Given the description of an element on the screen output the (x, y) to click on. 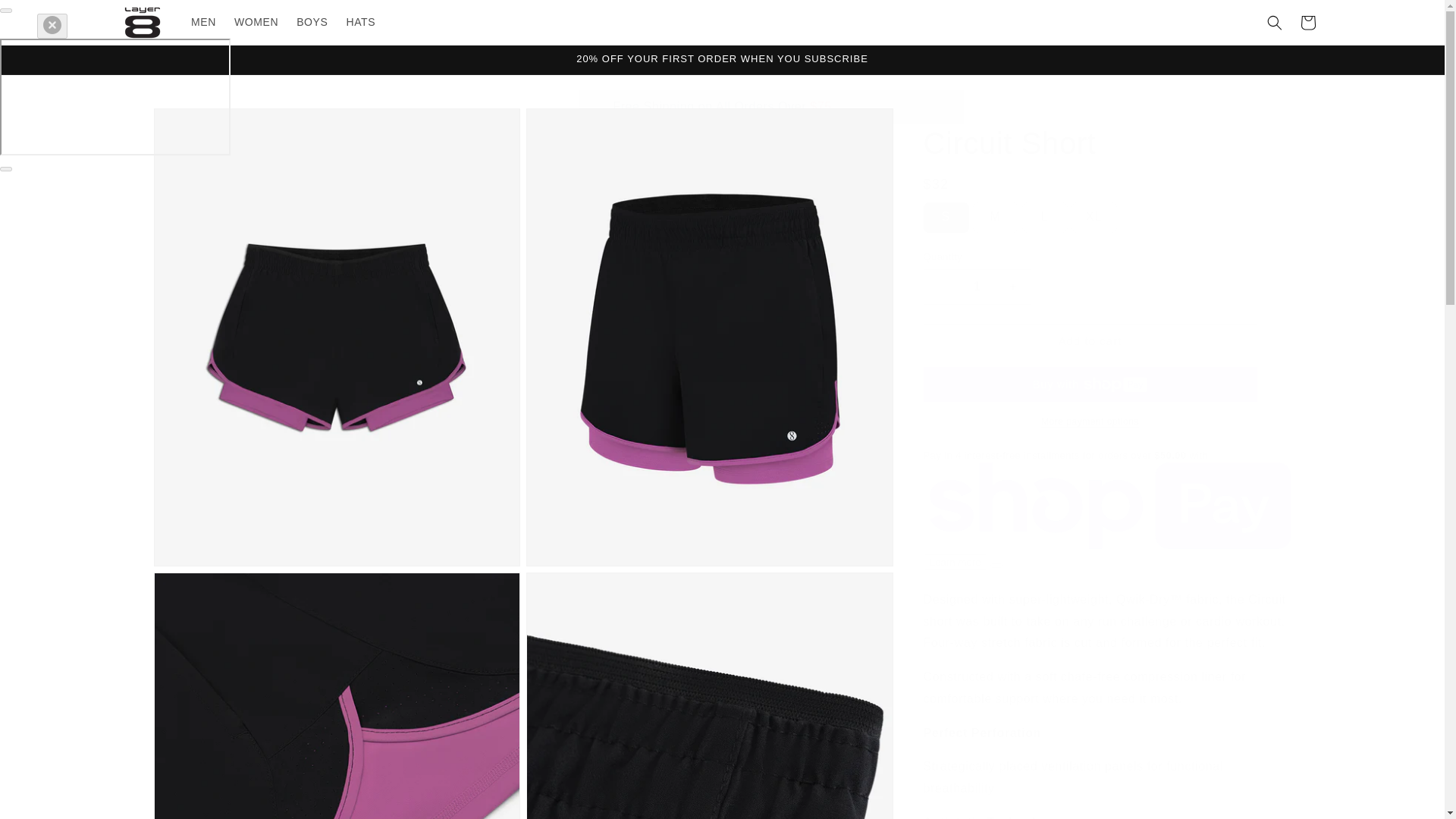
Increase quantity for Circuit Short (1012, 285)
Add to cart (1090, 340)
WOMEN (255, 21)
More payment options (1090, 421)
Cart (1306, 22)
0 (335, 695)
BOYS (311, 21)
Skip to product information (199, 125)
Decrease quantity for Circuit Short (940, 285)
Skip to content (45, 17)
HATS (360, 21)
